Given the description of an element on the screen output the (x, y) to click on. 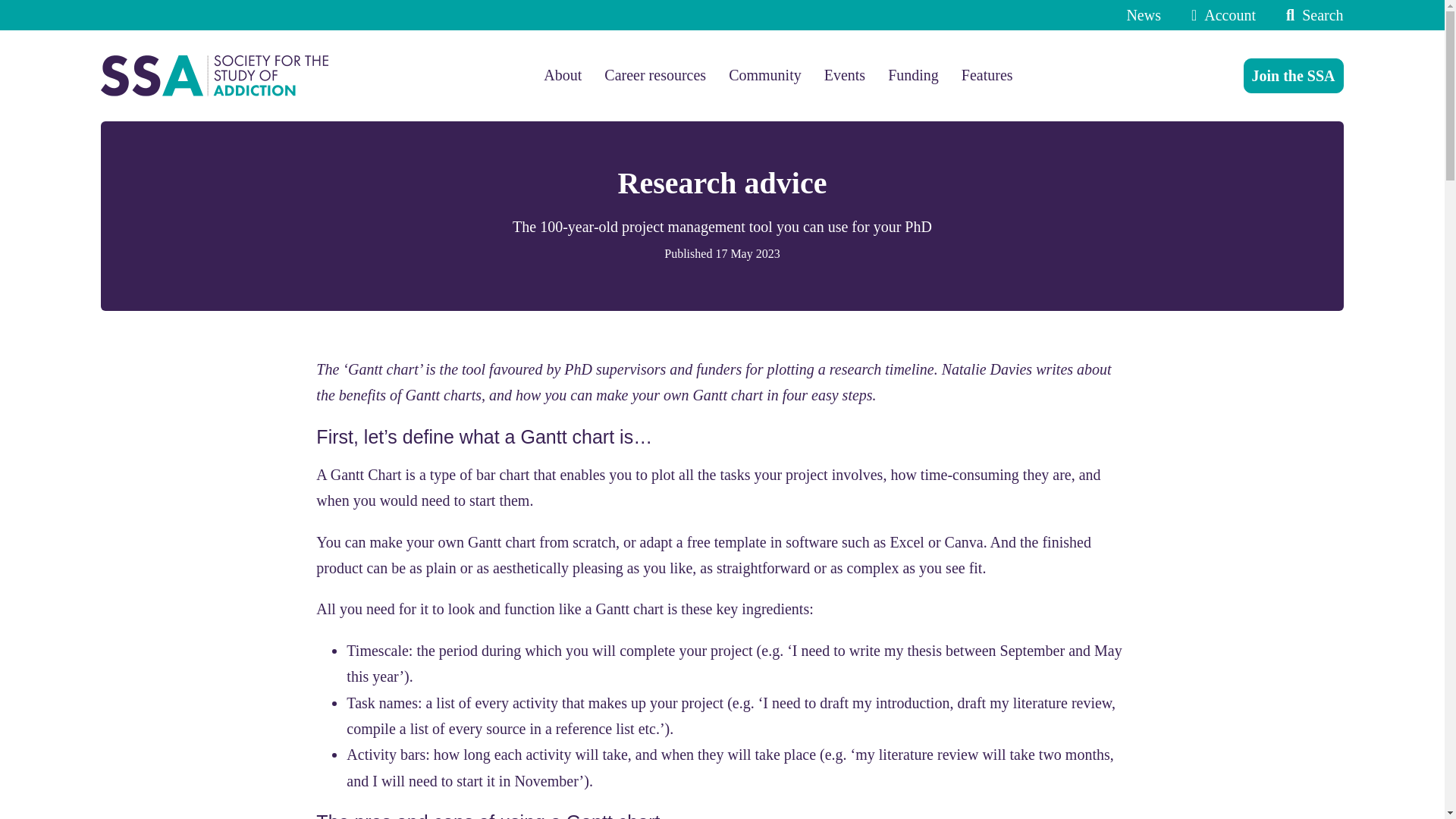
Features (986, 75)
Funding (913, 75)
Account (1219, 14)
Join the SSA (1293, 75)
Community (765, 75)
About (561, 75)
Search (1310, 14)
News (1142, 14)
Events (844, 75)
Career resources (655, 75)
